Given the description of an element on the screen output the (x, y) to click on. 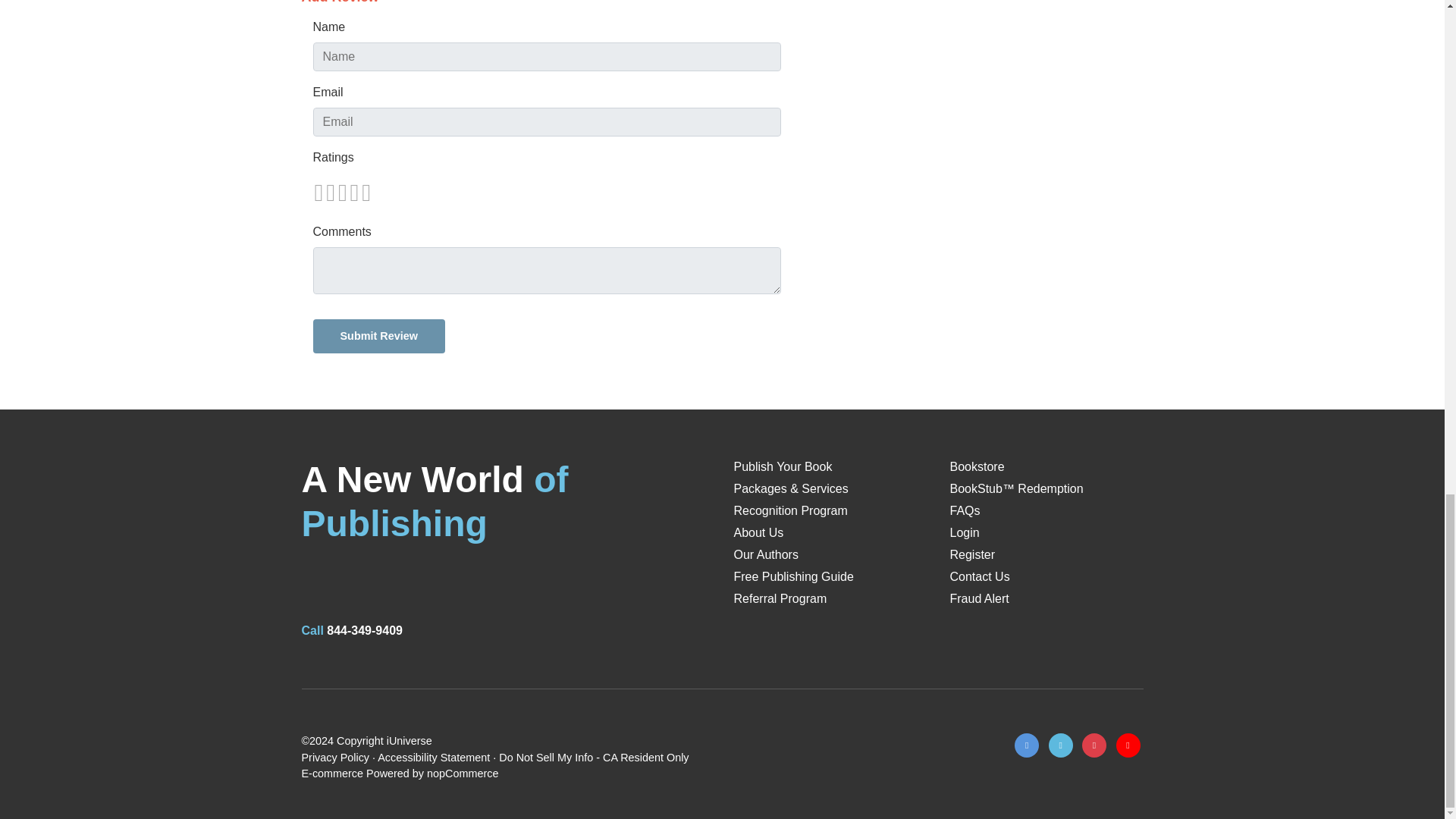
Submit Review (378, 335)
844-349-9409 (364, 630)
Bookstore (976, 466)
Not Rated (342, 192)
Recognition Program (790, 510)
Free Publishing Guide (793, 576)
Referral Program (780, 598)
Submit Review (378, 335)
About Us (758, 532)
Our Authors (765, 554)
Publish Your Book (782, 466)
FAQs (964, 510)
